Given the description of an element on the screen output the (x, y) to click on. 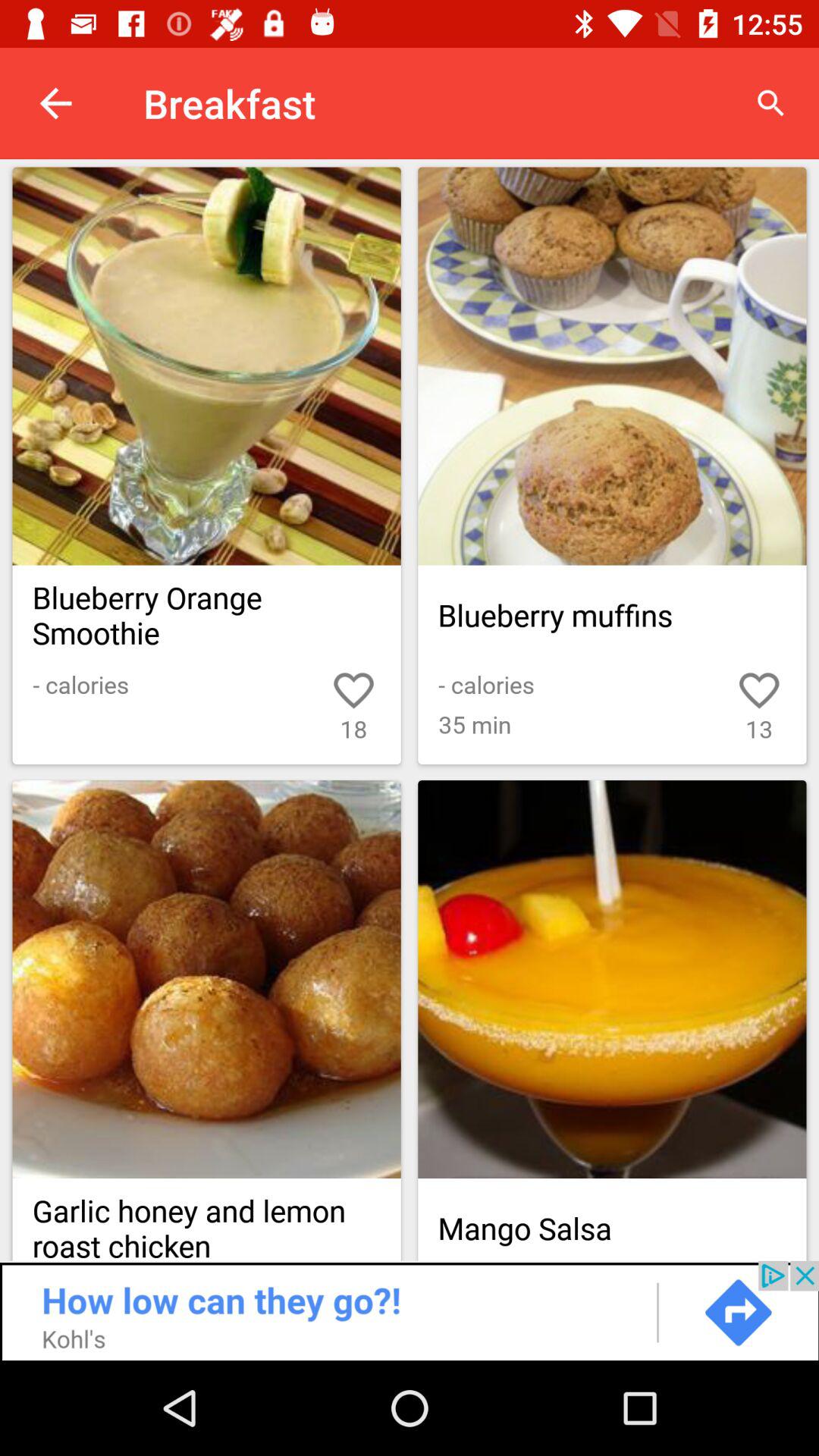
select mango salsa breakfast (612, 979)
